Given the description of an element on the screen output the (x, y) to click on. 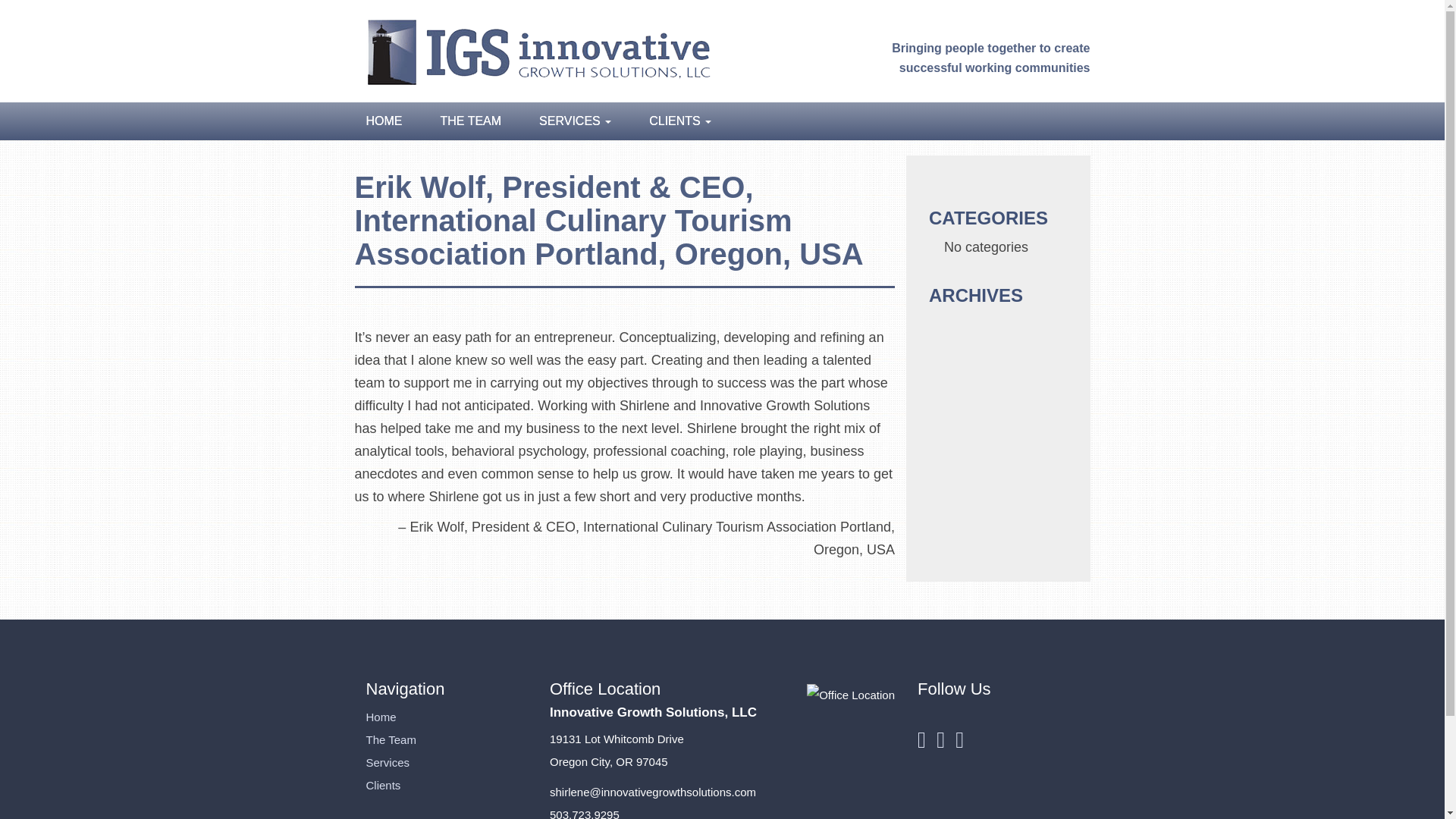
Innovative Growth Solutions, Inc. (535, 49)
The Team (389, 739)
Clients (382, 784)
HOME (388, 121)
CLIENTS (670, 121)
SERVICES (574, 121)
Home (380, 716)
THE TEAM (471, 121)
SERVICES (574, 121)
HOME (388, 121)
